Given the description of an element on the screen output the (x, y) to click on. 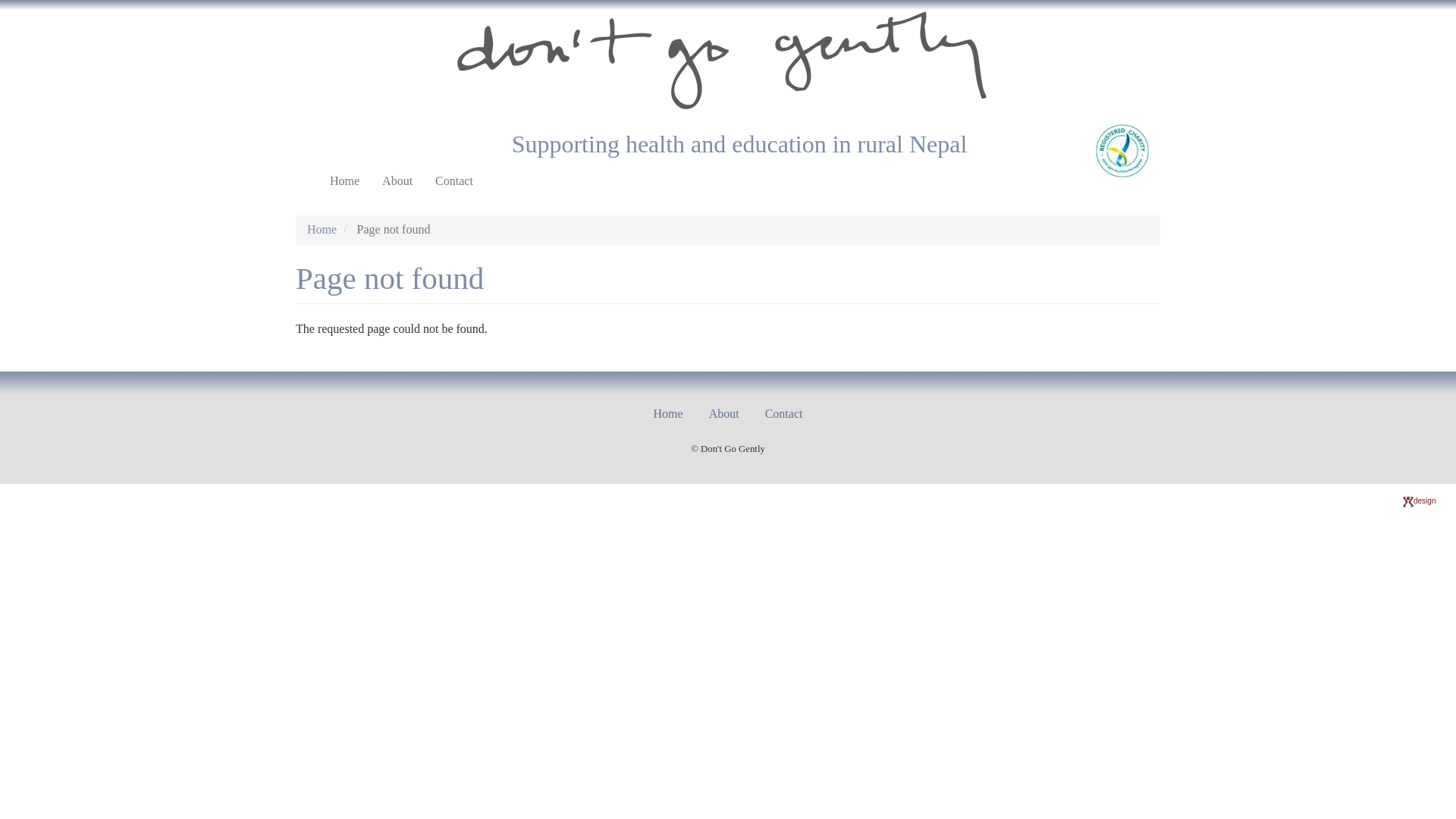
design Element type: text (1418, 500)
Home Element type: hover (727, 61)
Skip to main content Element type: text (0, 0)
About Element type: text (396, 181)
Contact Element type: text (453, 181)
Home Element type: text (668, 414)
About Element type: text (723, 414)
Home Element type: text (344, 181)
Contact Element type: text (783, 414)
Home Element type: text (321, 228)
